Given the description of an element on the screen output the (x, y) to click on. 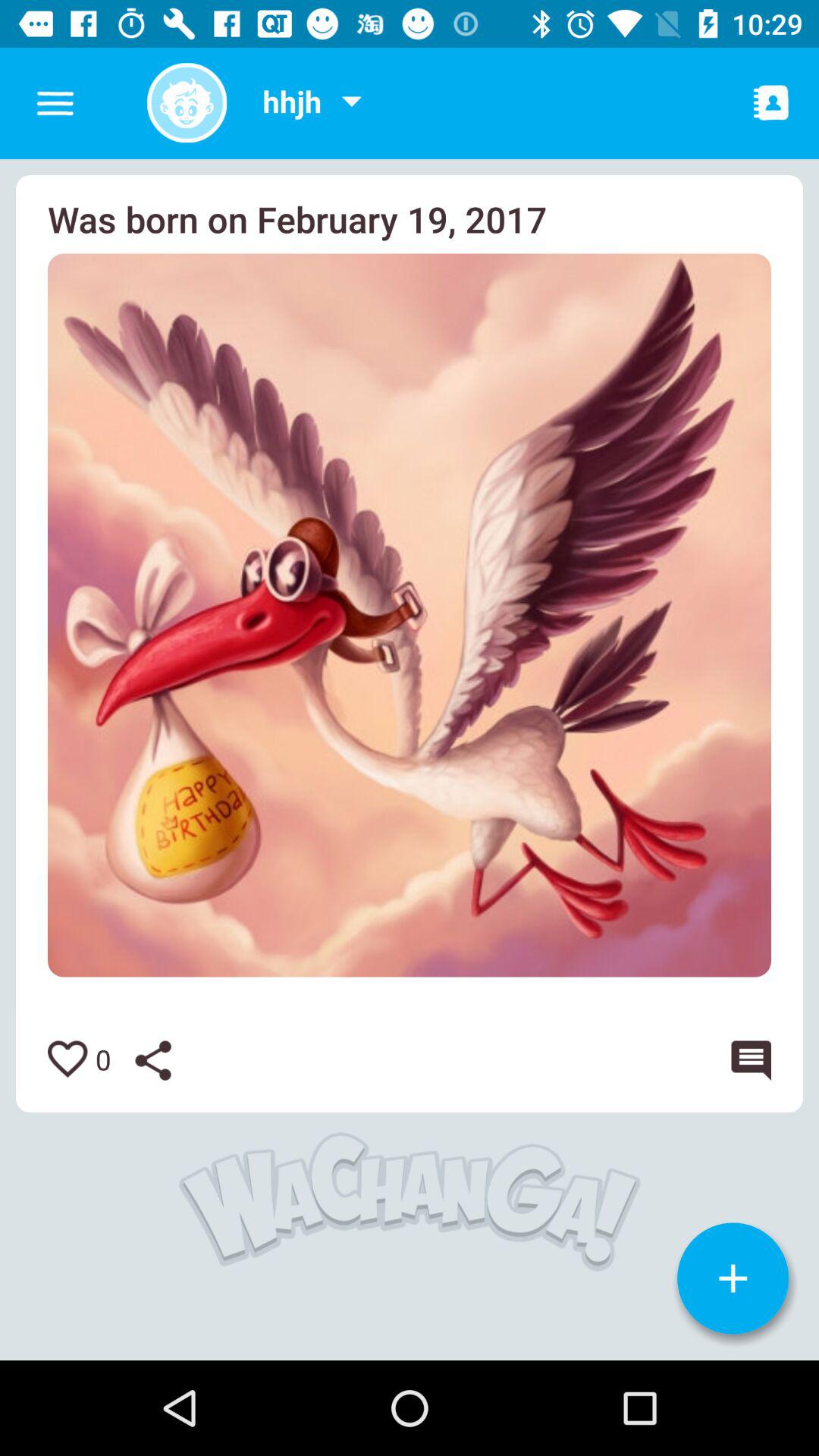
contacts (771, 102)
